Given the description of an element on the screen output the (x, y) to click on. 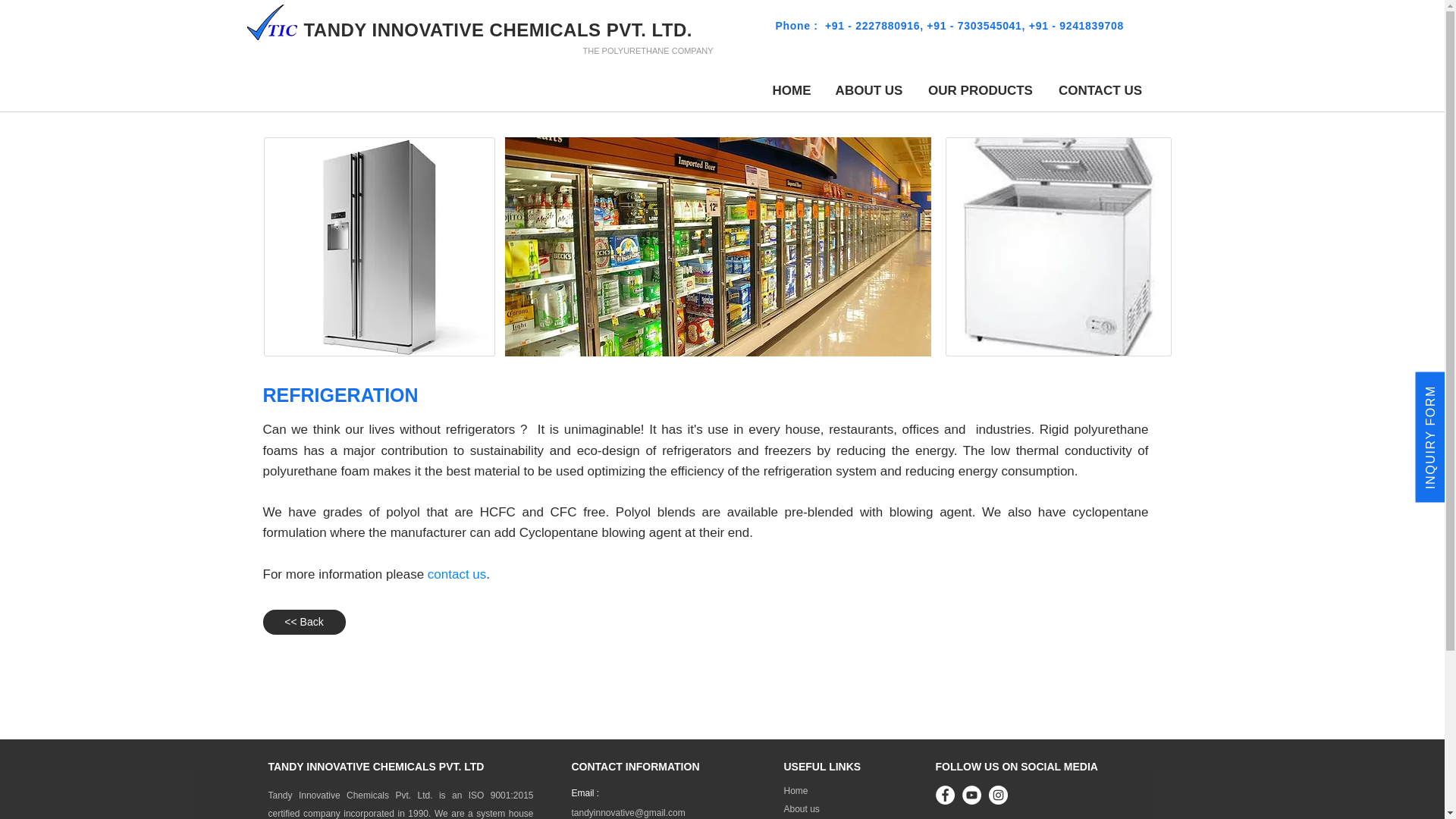
ABOUT US (869, 90)
HOME (791, 90)
FOLLOW US ON SOCIAL MEDIA (1016, 766)
USEFUL LINKS (822, 766)
contact us (457, 574)
TANDY INNOVATIVE CHEMICALS PVT. LTD. (496, 29)
TANDY INNOVATIVE CHEMICALS PVT. LTD (375, 766)
CONTACT US (1100, 90)
CONTACT INFORMATION (636, 766)
